Given the description of an element on the screen output the (x, y) to click on. 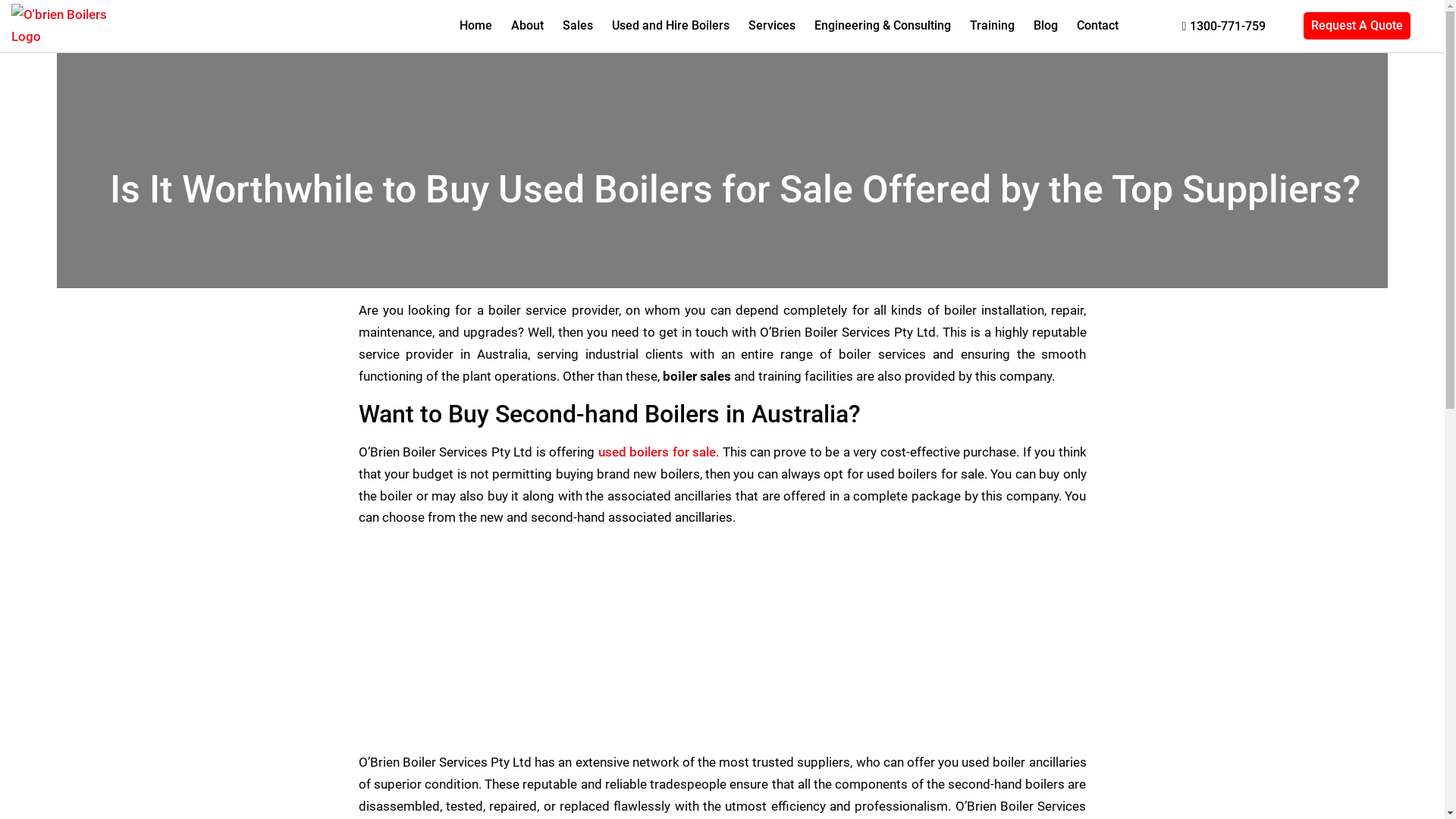
Services Element type: text (771, 25)
Training Element type: text (992, 25)
1300-771-759 Element type: text (1224, 26)
Sales Element type: text (577, 25)
Blog Element type: text (1045, 25)
About Element type: text (527, 25)
used boilers for sale Element type: text (656, 451)
Engineering & Consulting Element type: text (882, 25)
Contact Element type: text (1097, 25)
Used and Hire Boilers Element type: text (670, 25)
Home Element type: text (475, 25)
Request A Quote Element type: text (1356, 25)
